Given the description of an element on the screen output the (x, y) to click on. 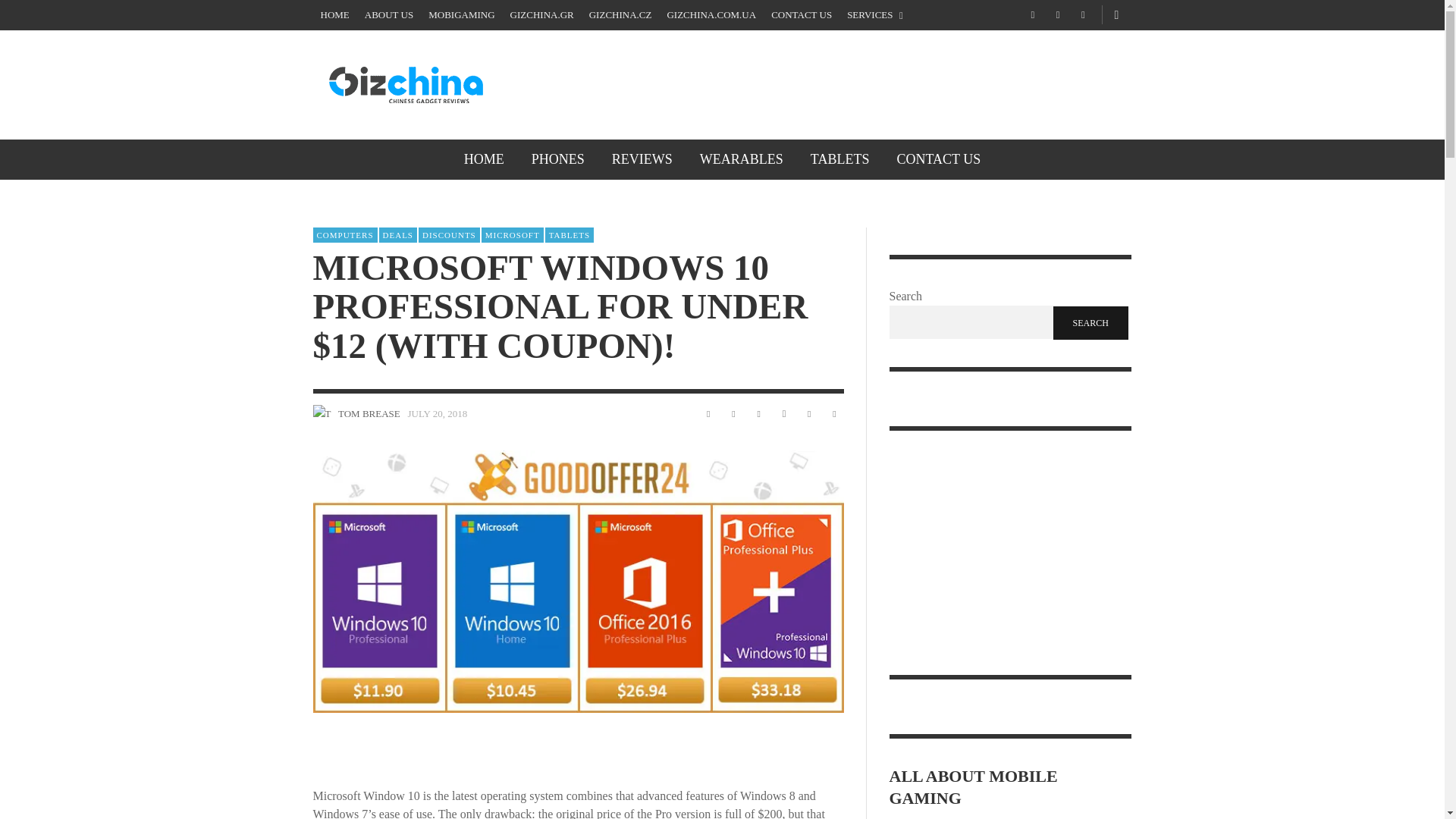
SERVICES (875, 15)
CONTACT US (801, 15)
REVIEWS (641, 159)
GIZCHINA.CZ (619, 15)
GIZCHINA.GR (541, 15)
PHONES (558, 159)
ABOUT US (388, 15)
HOME (334, 15)
MOBIGAMING (461, 15)
HOME (483, 159)
